Given the description of an element on the screen output the (x, y) to click on. 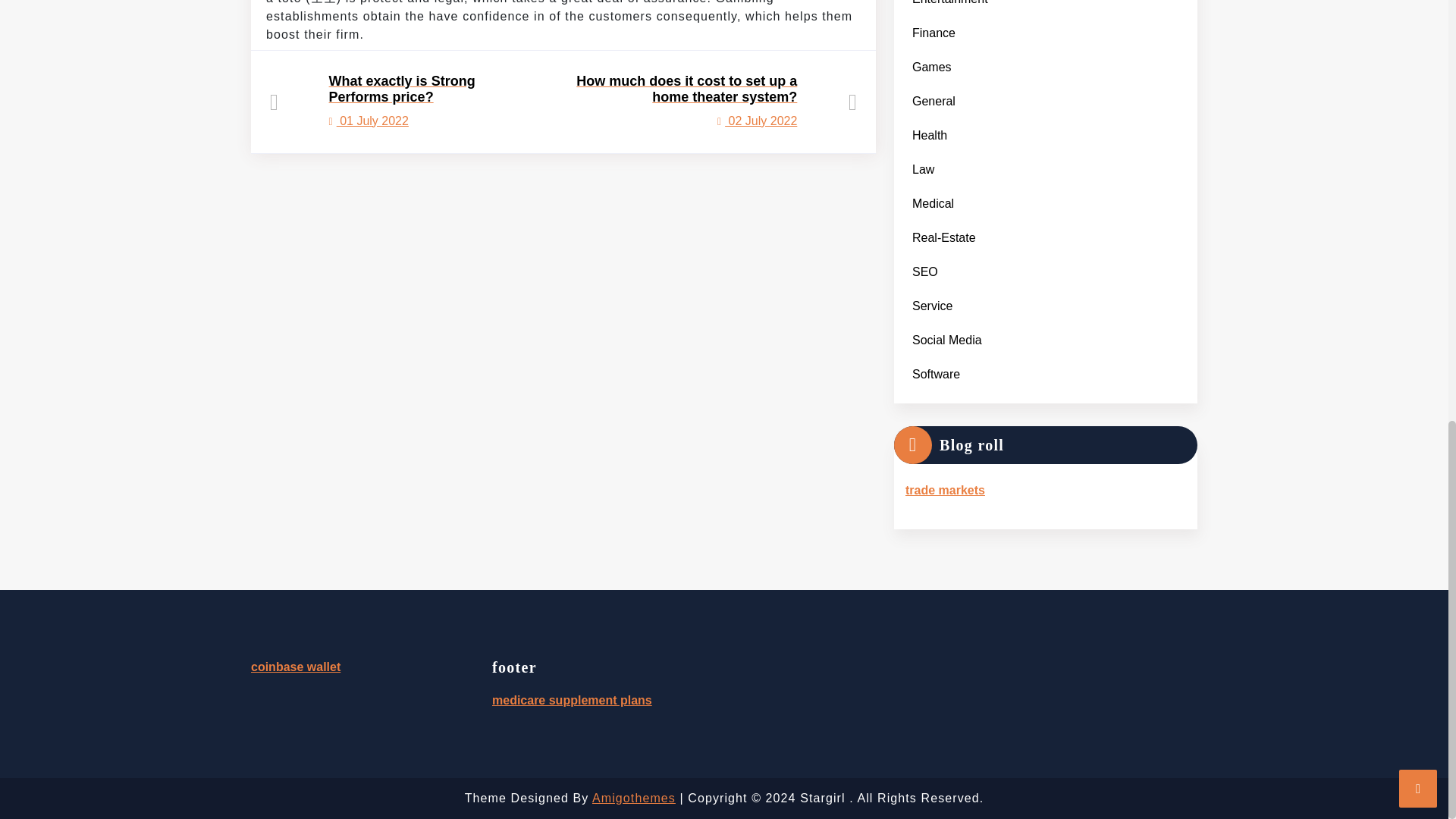
Finance (933, 32)
Games (931, 67)
General (394, 100)
Health (933, 100)
Entertainment (929, 135)
